Given the description of an element on the screen output the (x, y) to click on. 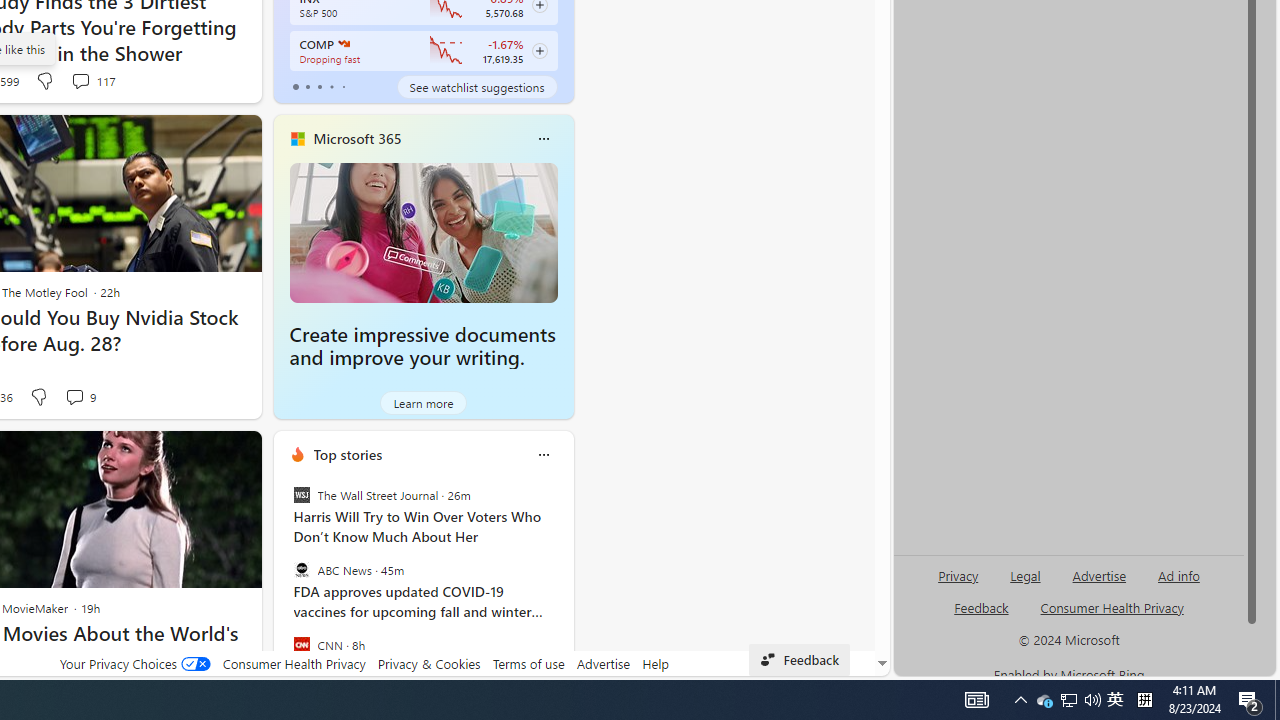
AutomationID: sb_feedback (980, 607)
AutomationID: genId96 (981, 615)
Learn more (423, 402)
View comments 9 Comment (74, 396)
NASDAQ (342, 43)
next (563, 583)
tab-4 (342, 86)
Create impressive documents and improve your writing. (422, 346)
